Given the description of an element on the screen output the (x, y) to click on. 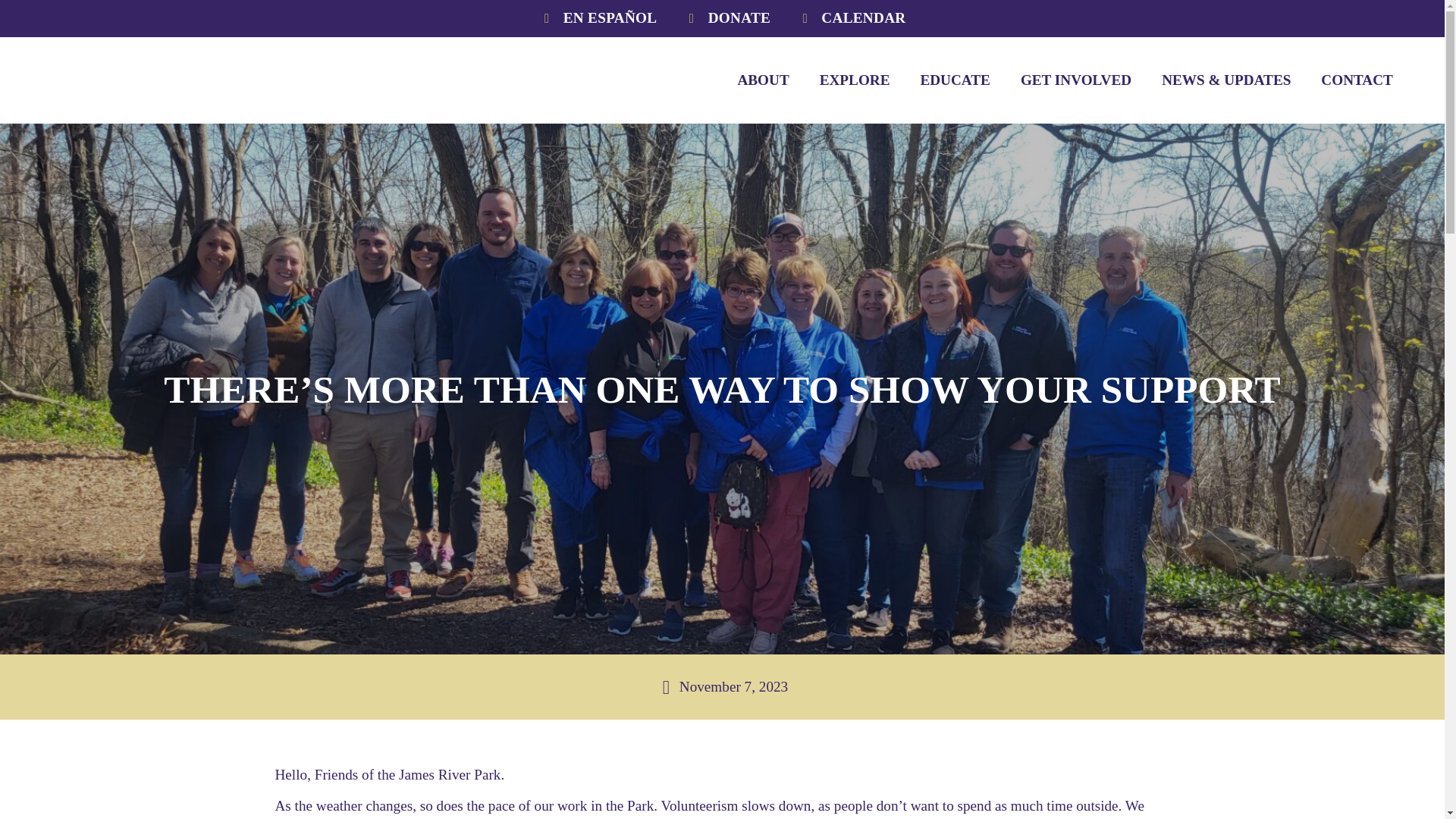
DONATE (726, 18)
EXPLORE (855, 80)
CALENDAR (850, 18)
ABOUT (762, 80)
